Given the description of an element on the screen output the (x, y) to click on. 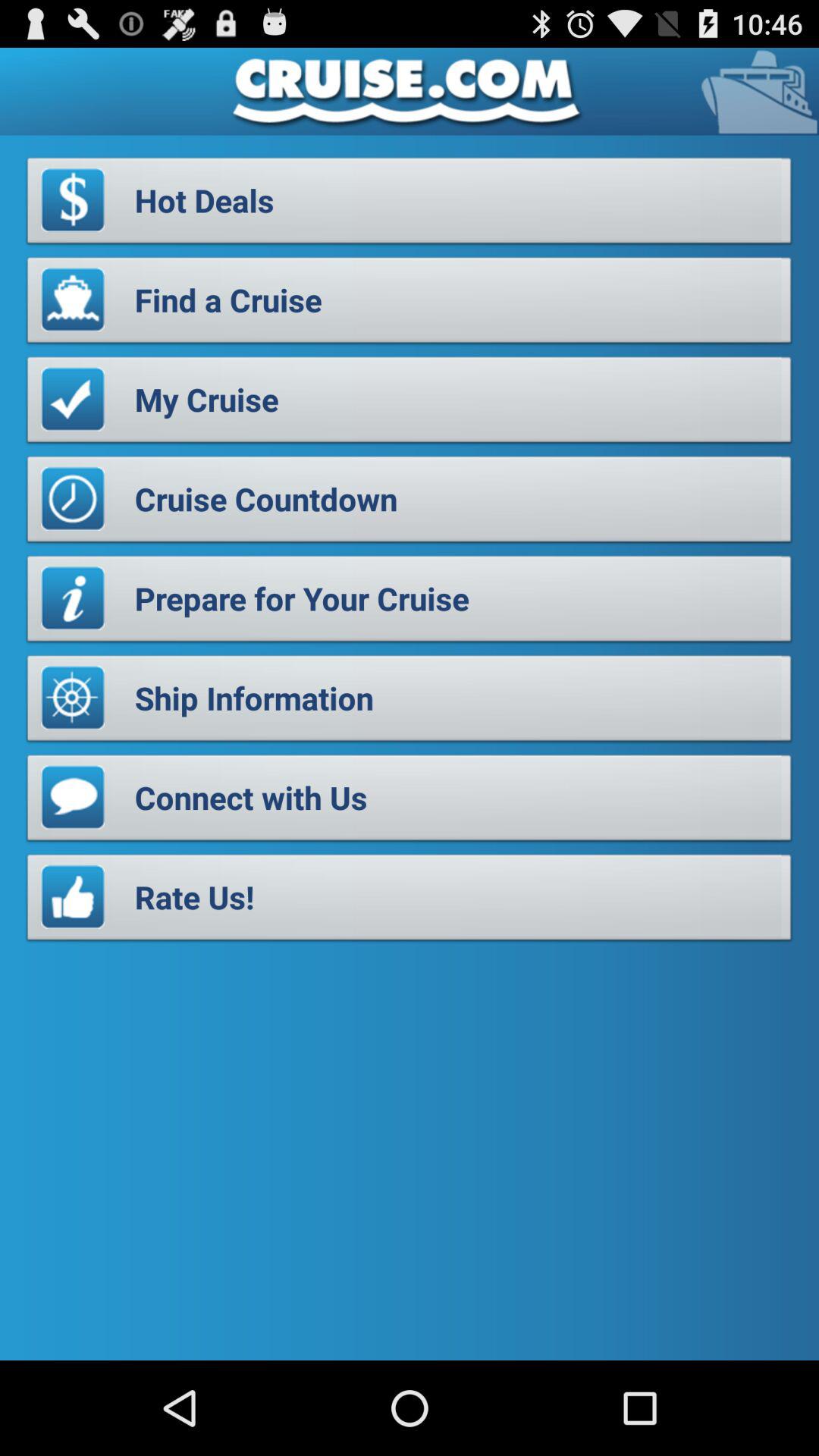
tap the connect with us item (409, 801)
